Given the description of an element on the screen output the (x, y) to click on. 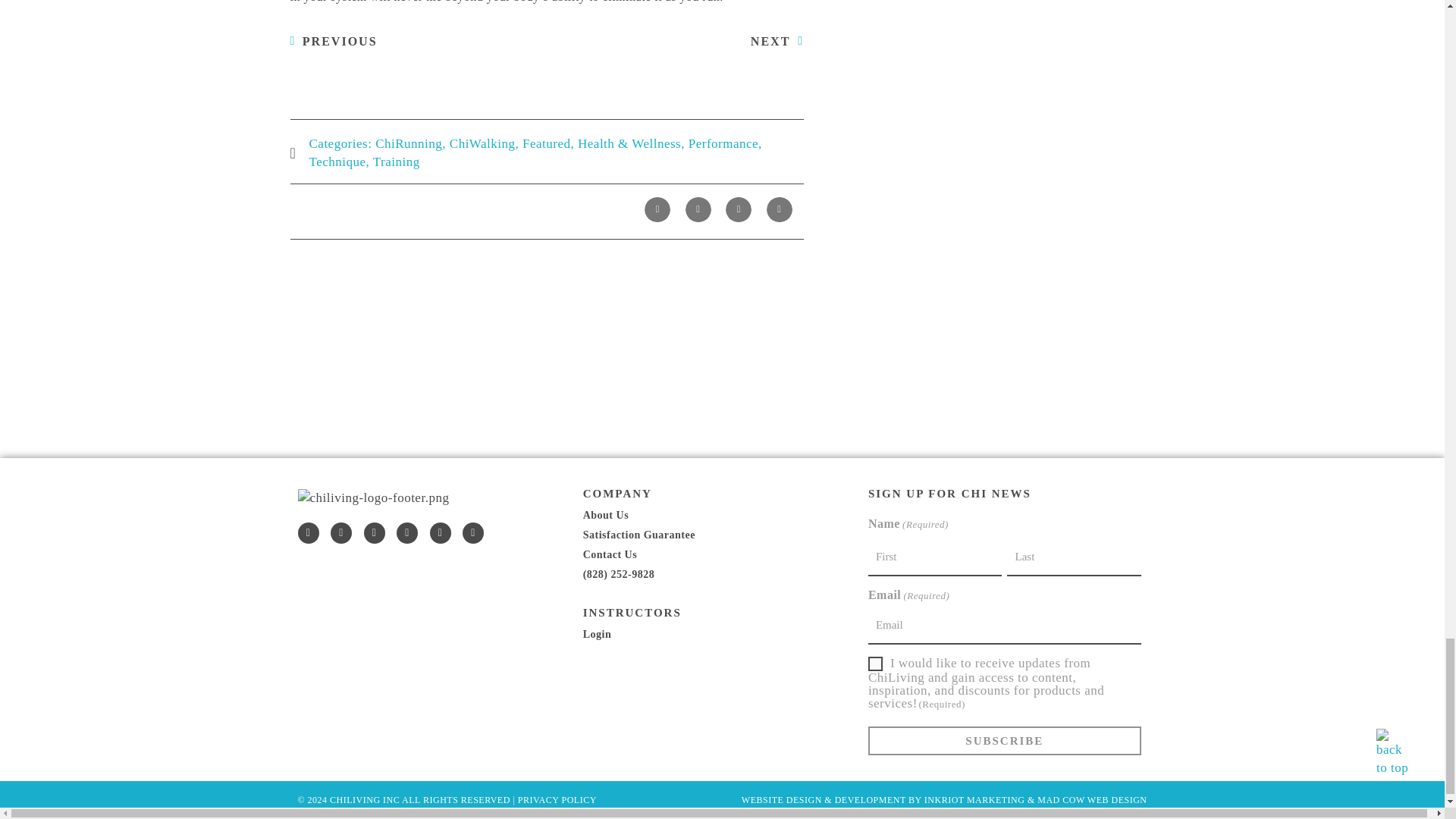
Subscribe (1004, 740)
chiliving-logo-footer.png (372, 497)
